Given the description of an element on the screen output the (x, y) to click on. 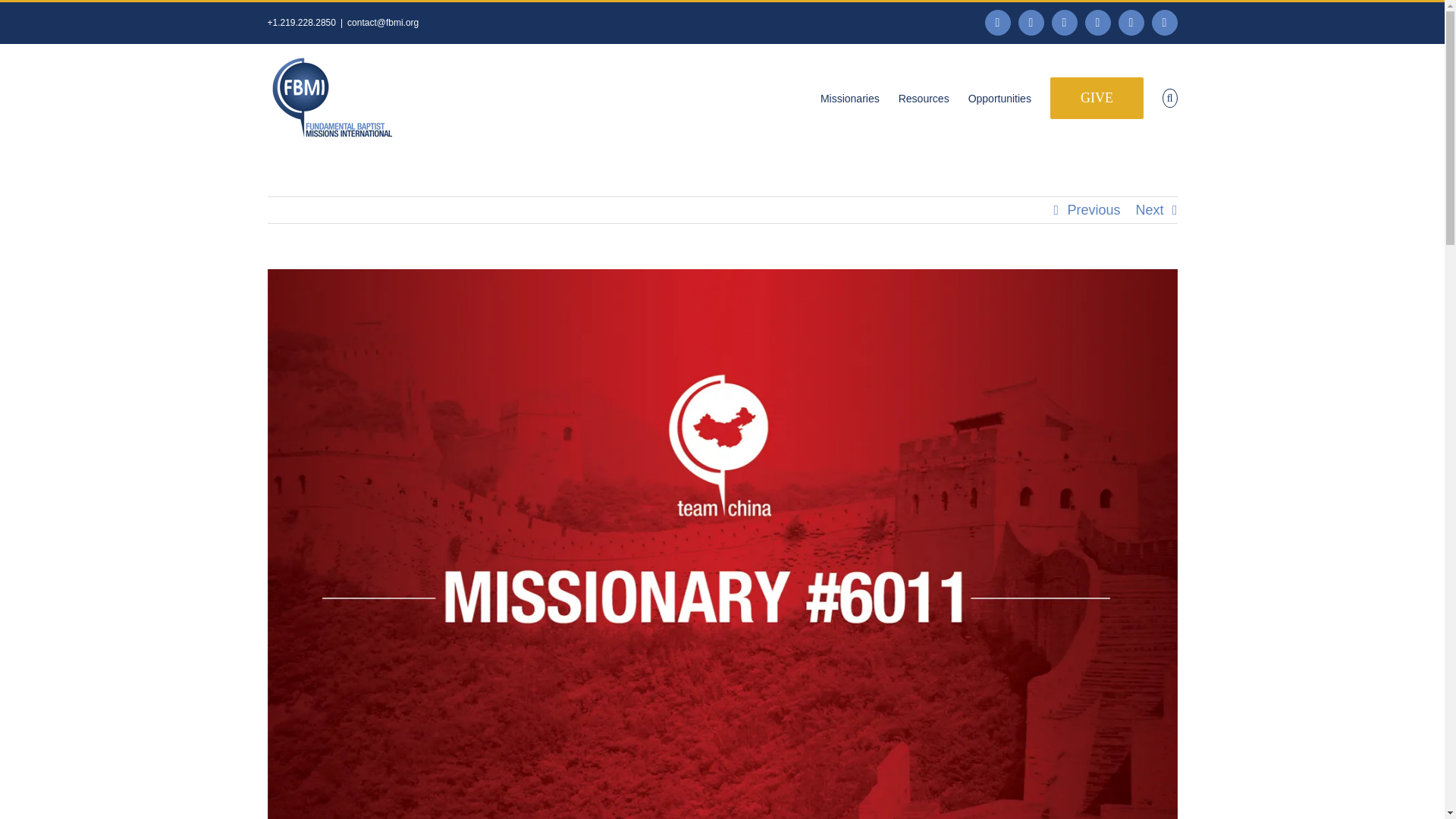
Rss (1097, 22)
YouTube (1131, 22)
Facebook (997, 22)
LinkedIn (1064, 22)
Email (1164, 22)
X (1030, 22)
